Given the description of an element on the screen output the (x, y) to click on. 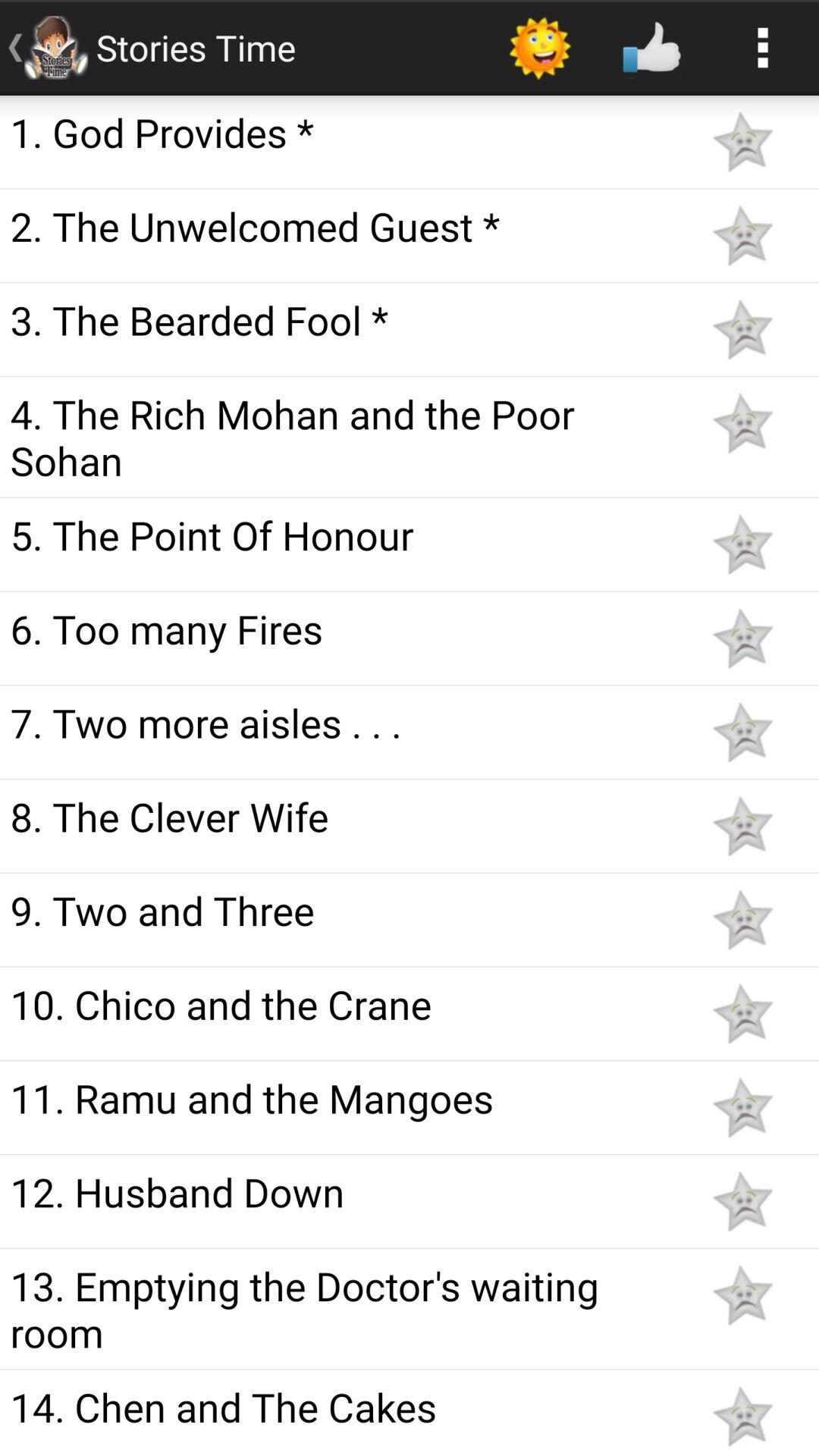
choose favorite (742, 235)
